Given the description of an element on the screen output the (x, y) to click on. 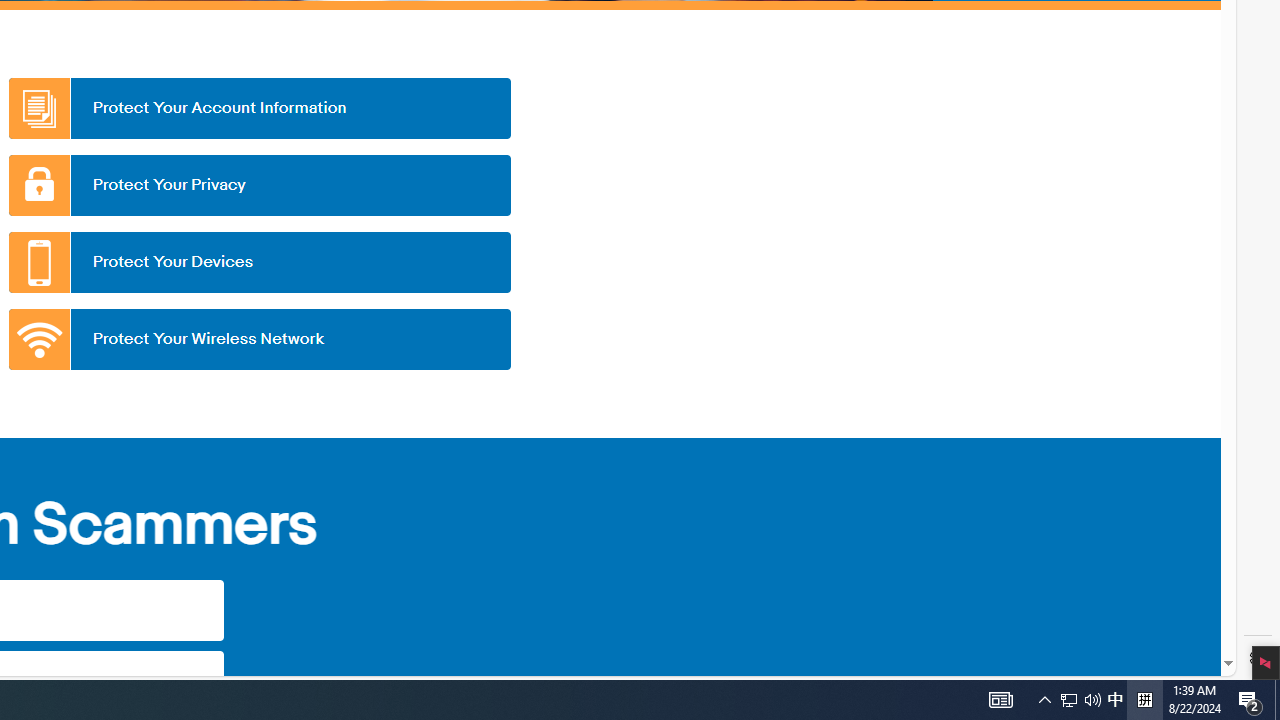
Protect Your Wireless Network (259, 339)
Protect Your Account Information (259, 107)
Protect Your Devices (259, 262)
Protect Your Privacy (259, 185)
